Given the description of an element on the screen output the (x, y) to click on. 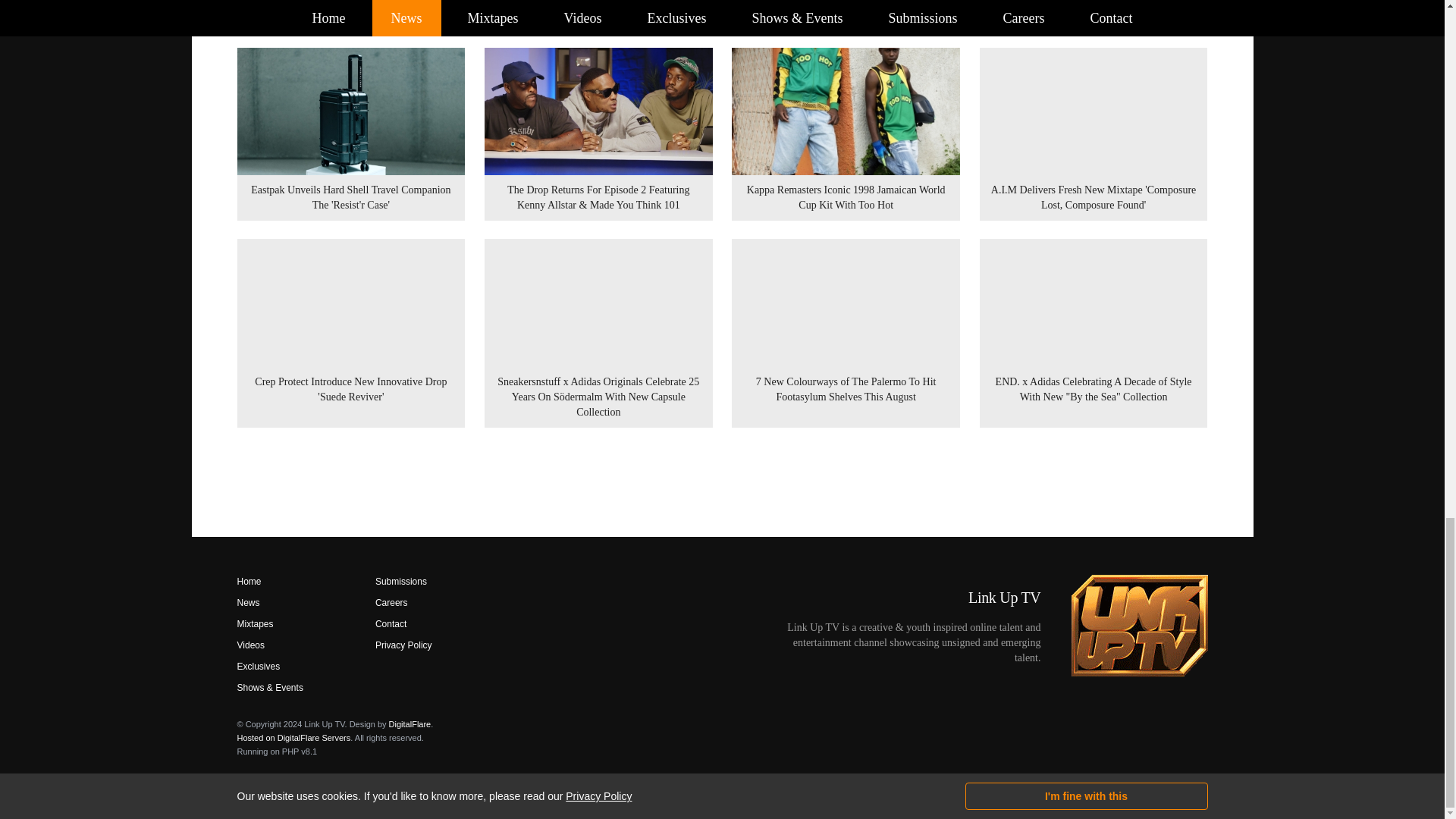
Crep Protect Introduce New Innovative Drop 'Suede Reviver' (349, 332)
END. x Adidas Celebrating A Decade of Style With New  (1093, 332)
